Given the description of an element on the screen output the (x, y) to click on. 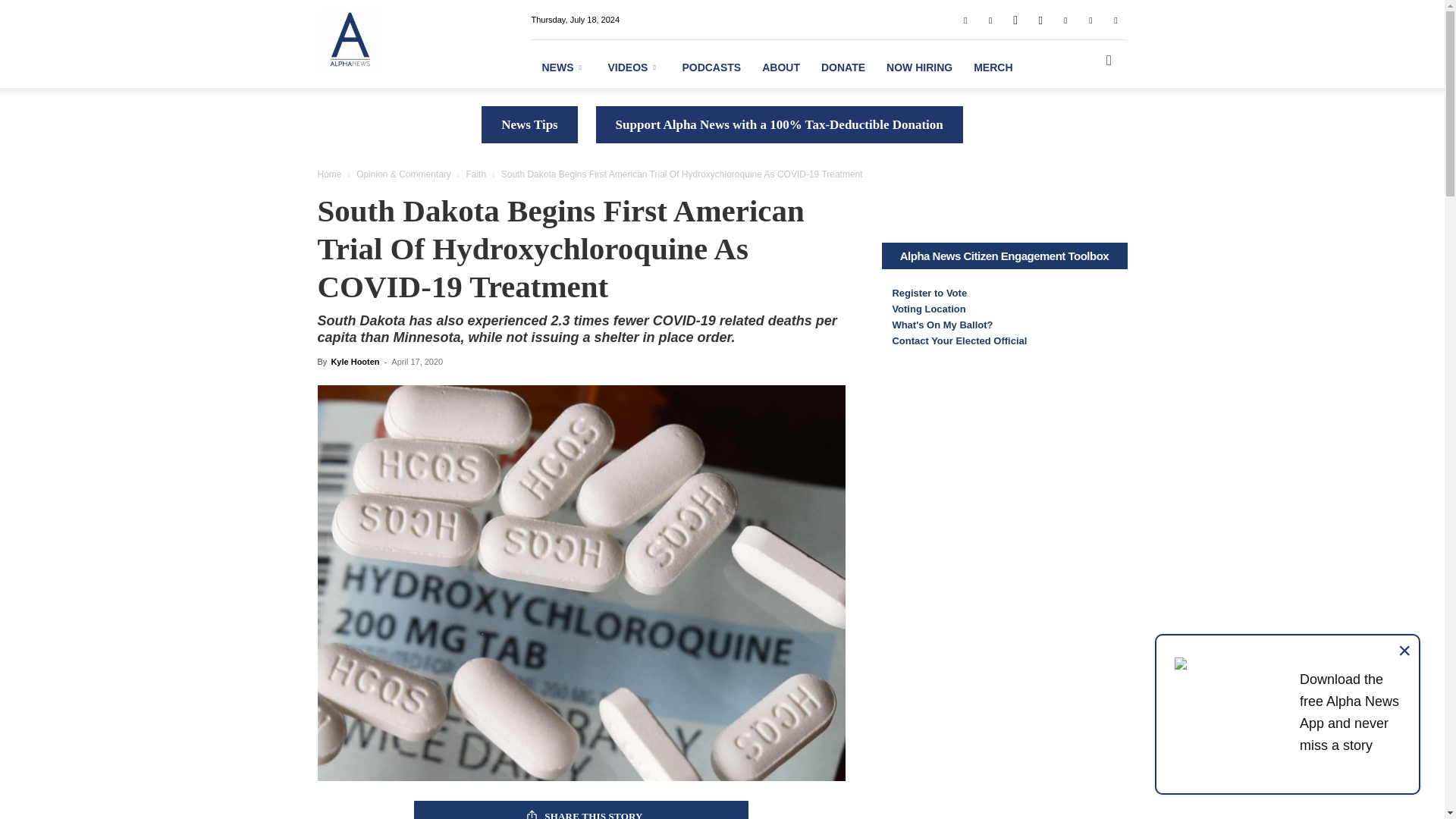
GETTR (1015, 19)
NEWS (563, 67)
Twitter (1090, 19)
Youtube (1114, 19)
Instagram (1040, 19)
Facebook (964, 19)
Gab (989, 19)
Alpha News (349, 39)
Telegram (1065, 19)
